Given the description of an element on the screen output the (x, y) to click on. 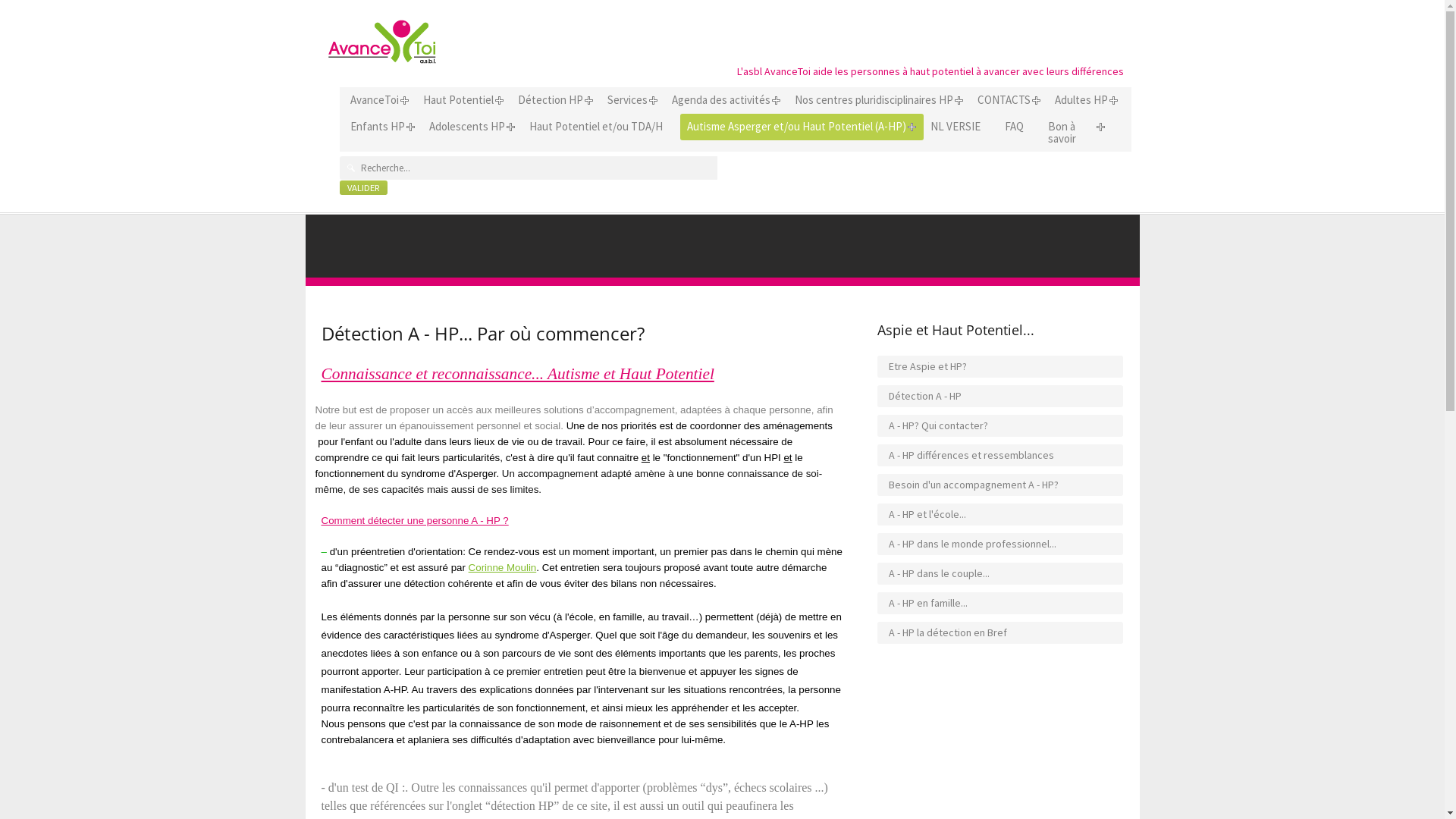
A - HP dans le couple... Element type: text (1000, 573)
FAQ Element type: text (1013, 126)
Autisme Asperger et/ou Haut Potentiel (A-HP) Element type: text (795, 126)
AvanceToi Element type: text (373, 99)
Corinne Moulin Element type: text (502, 567)
NL VERSIE Element type: text (955, 126)
AvanceToi Element type: text (381, 40)
A - HP dans le monde professionnel... Element type: text (1000, 544)
CONTACTS Element type: text (1003, 99)
Etre Aspie et HP? Element type: text (1000, 366)
A - HP? Qui contacter? Element type: text (1000, 425)
A - HP en famille... Element type: text (1000, 603)
Services Element type: text (627, 99)
Haut Potentiel et/ou TDA/H Element type: text (594, 126)
Haut Potentiel Element type: text (457, 99)
Nos centres pluridisciplinaires HP Element type: text (873, 99)
Besoin d'un accompagnement A - HP? Element type: text (1000, 484)
Valider Element type: text (363, 187)
Adultes HP Element type: text (1081, 99)
Enfants HP Element type: text (376, 126)
Adolescents HP Element type: text (466, 126)
